Given the description of an element on the screen output the (x, y) to click on. 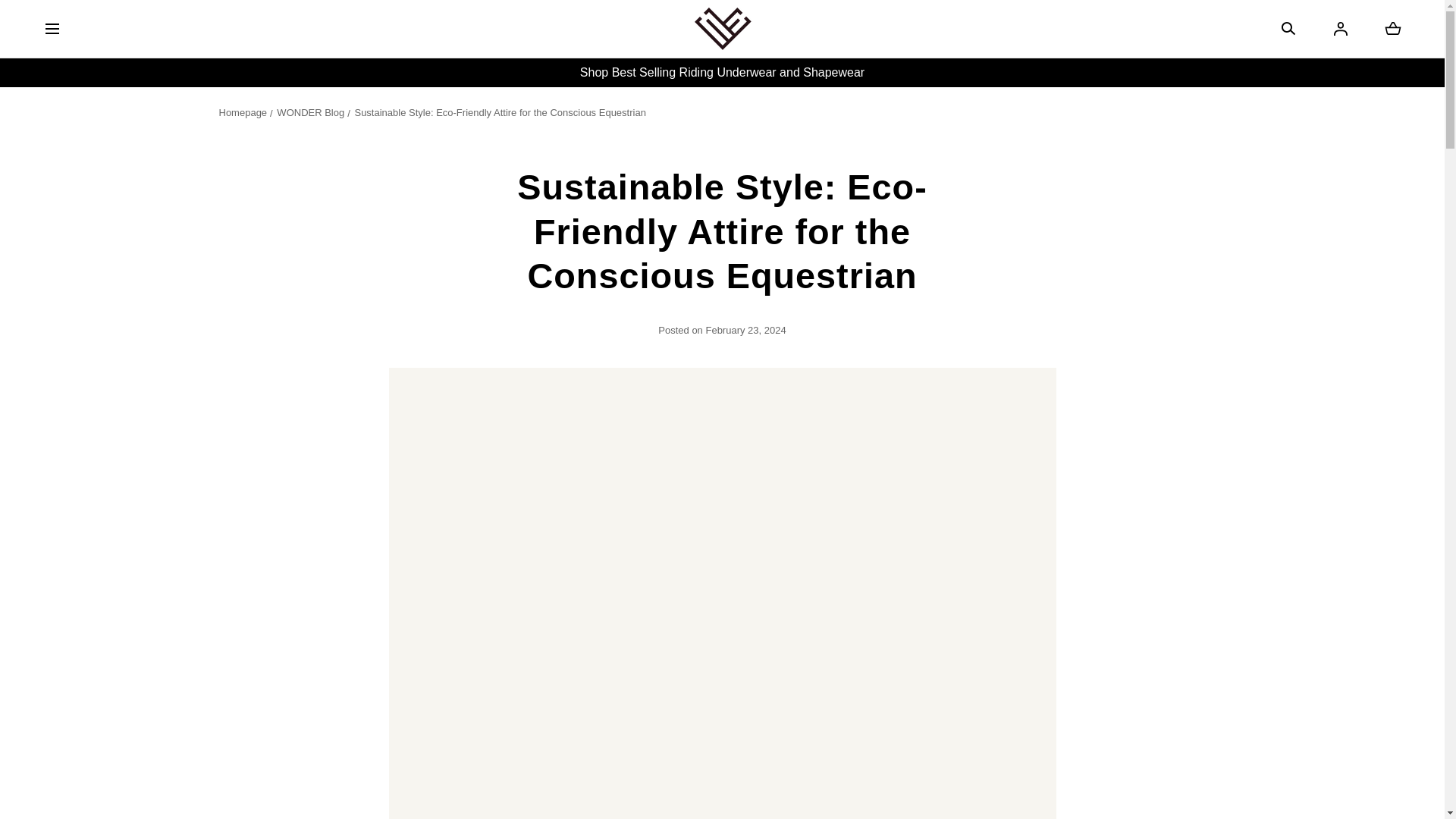
Homepage (1393, 28)
Log in (245, 112)
SKIP TO CONTENT (1340, 28)
Wonder Equestrian (80, 18)
WONDER Blog (721, 28)
